Given the description of an element on the screen output the (x, y) to click on. 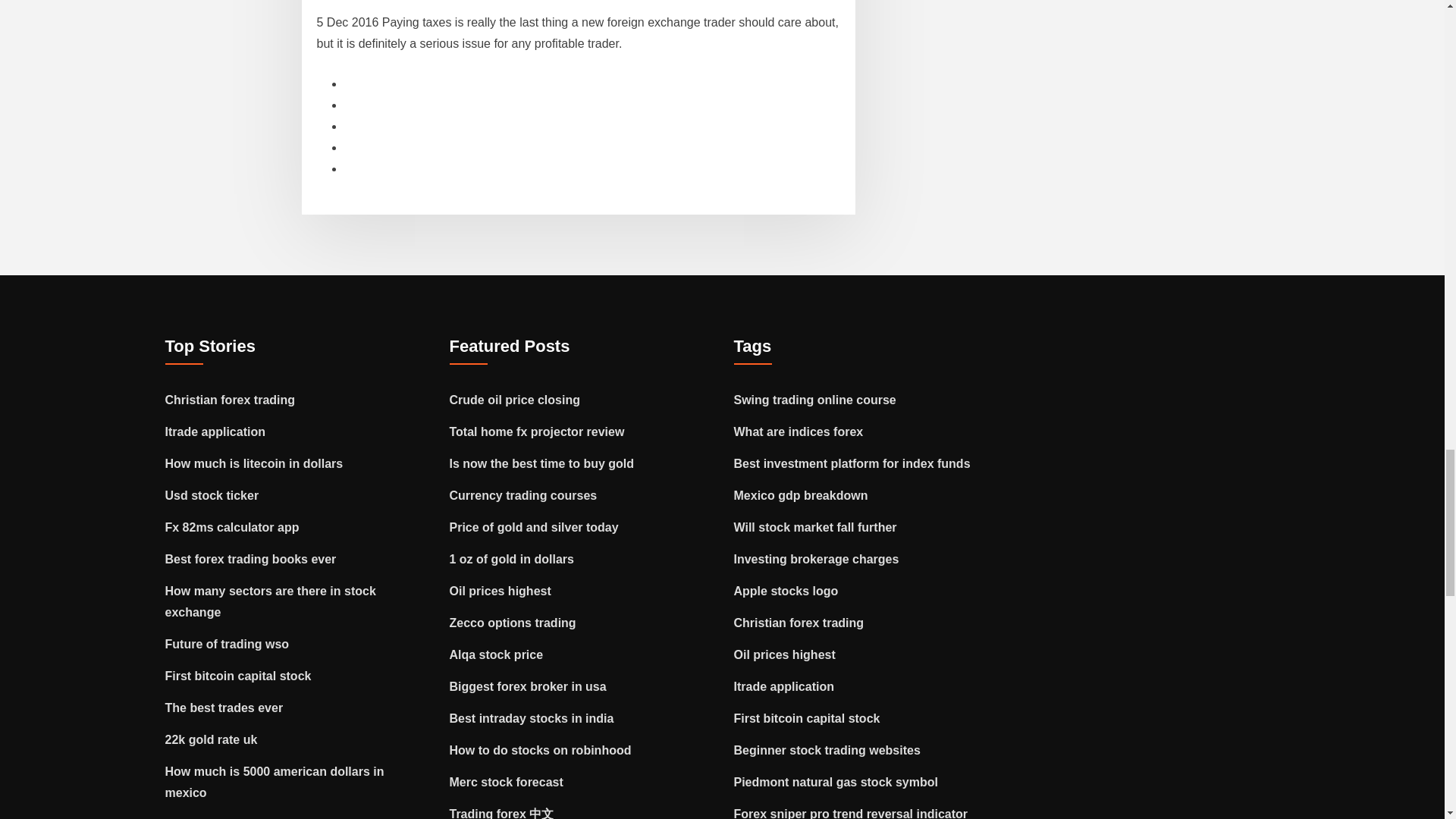
Christian forex trading (230, 399)
How many sectors are there in stock exchange (270, 601)
Fx 82ms calculator app (232, 526)
First bitcoin capital stock (238, 675)
Usd stock ticker (212, 495)
Best forex trading books ever (250, 558)
The best trades ever (224, 707)
Itrade application (214, 431)
How much is litecoin in dollars (254, 463)
